Given the description of an element on the screen output the (x, y) to click on. 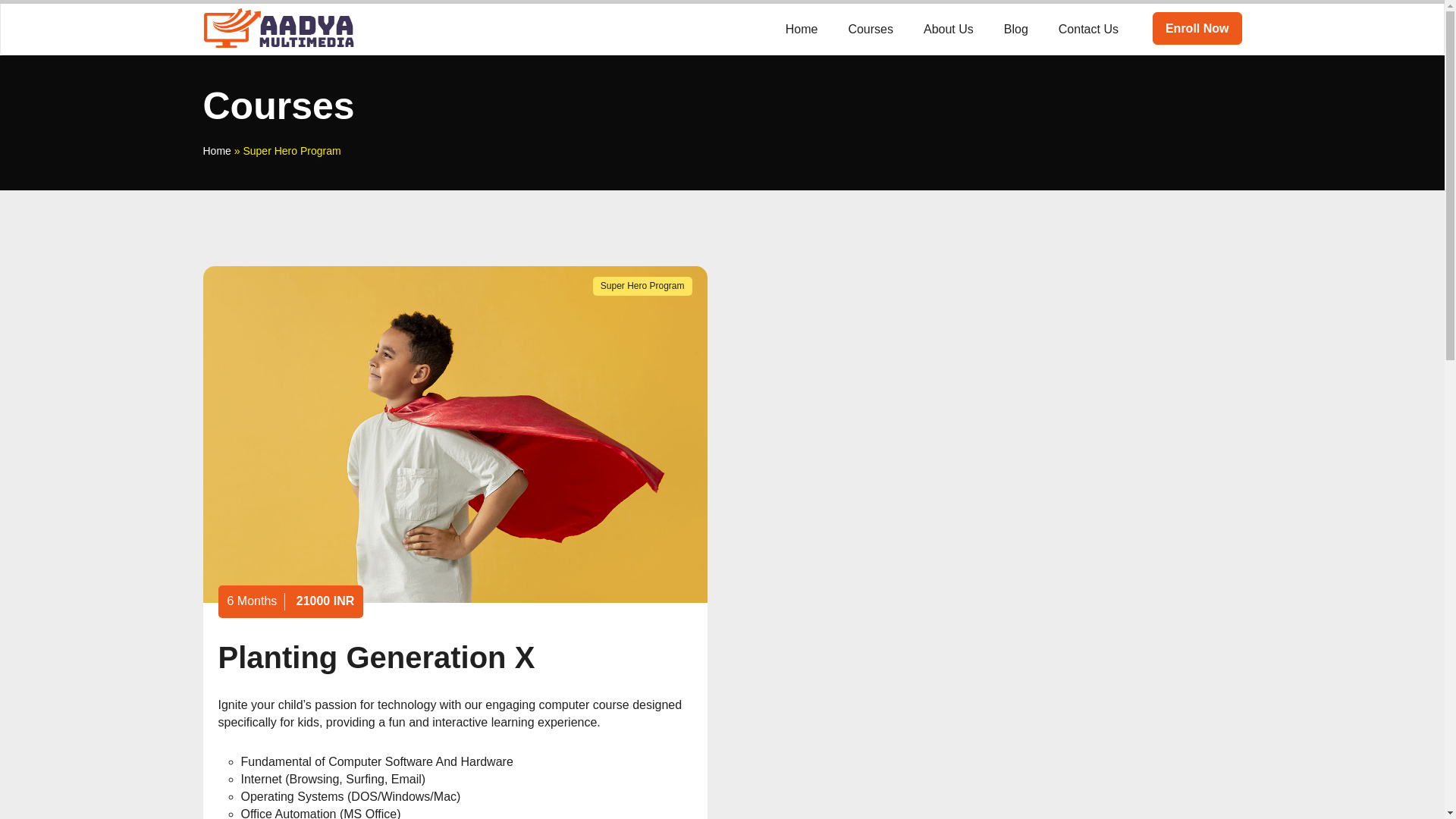
Planting Generation X (376, 657)
Planting Generation X (376, 657)
Home (801, 26)
Courses (870, 26)
Courses (870, 26)
Blog (1015, 26)
Contact Us (1088, 26)
About Us (948, 26)
Home (217, 150)
Blog (1015, 26)
